Given the description of an element on the screen output the (x, y) to click on. 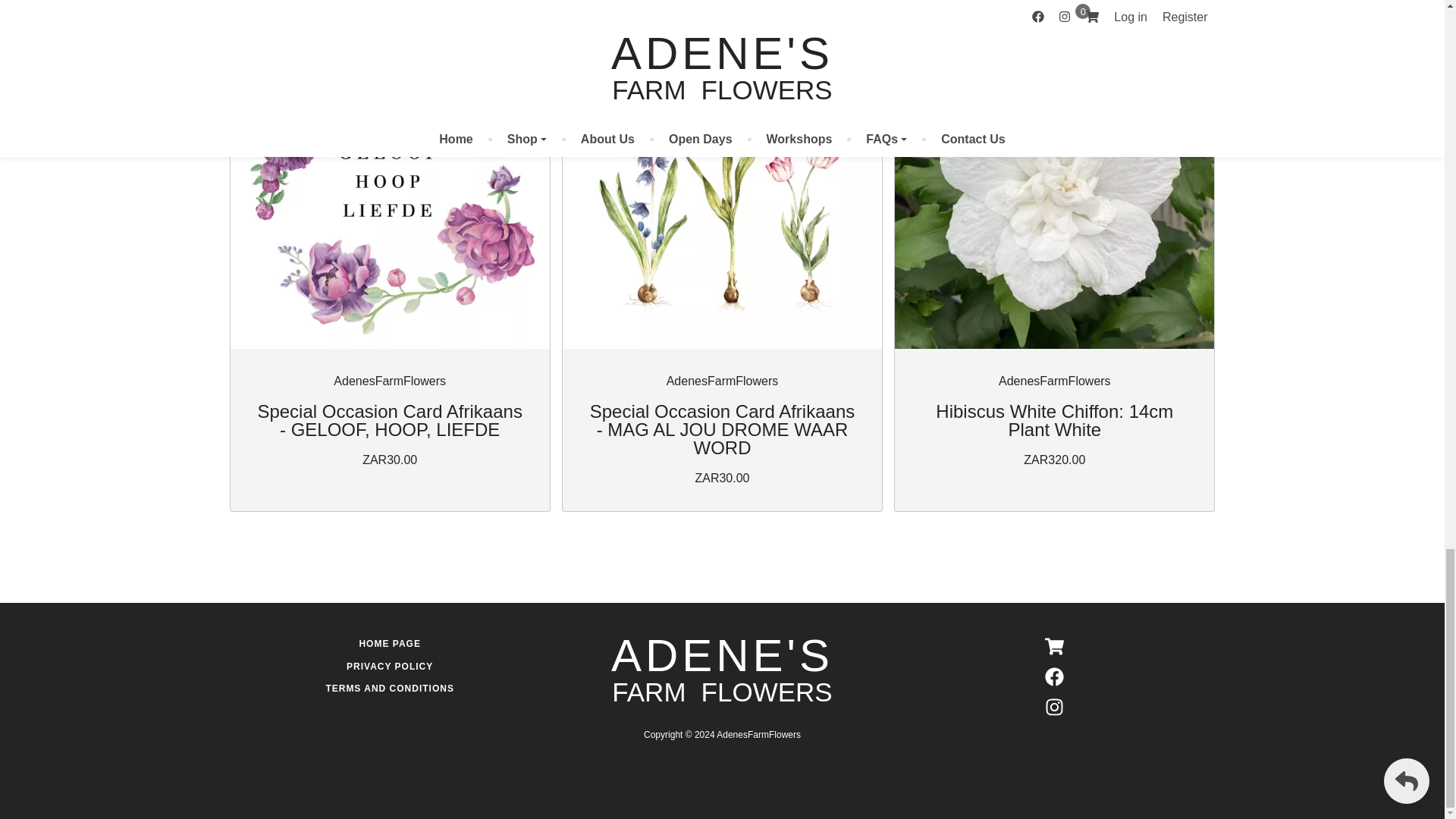
Home (722, 669)
